Given the description of an element on the screen output the (x, y) to click on. 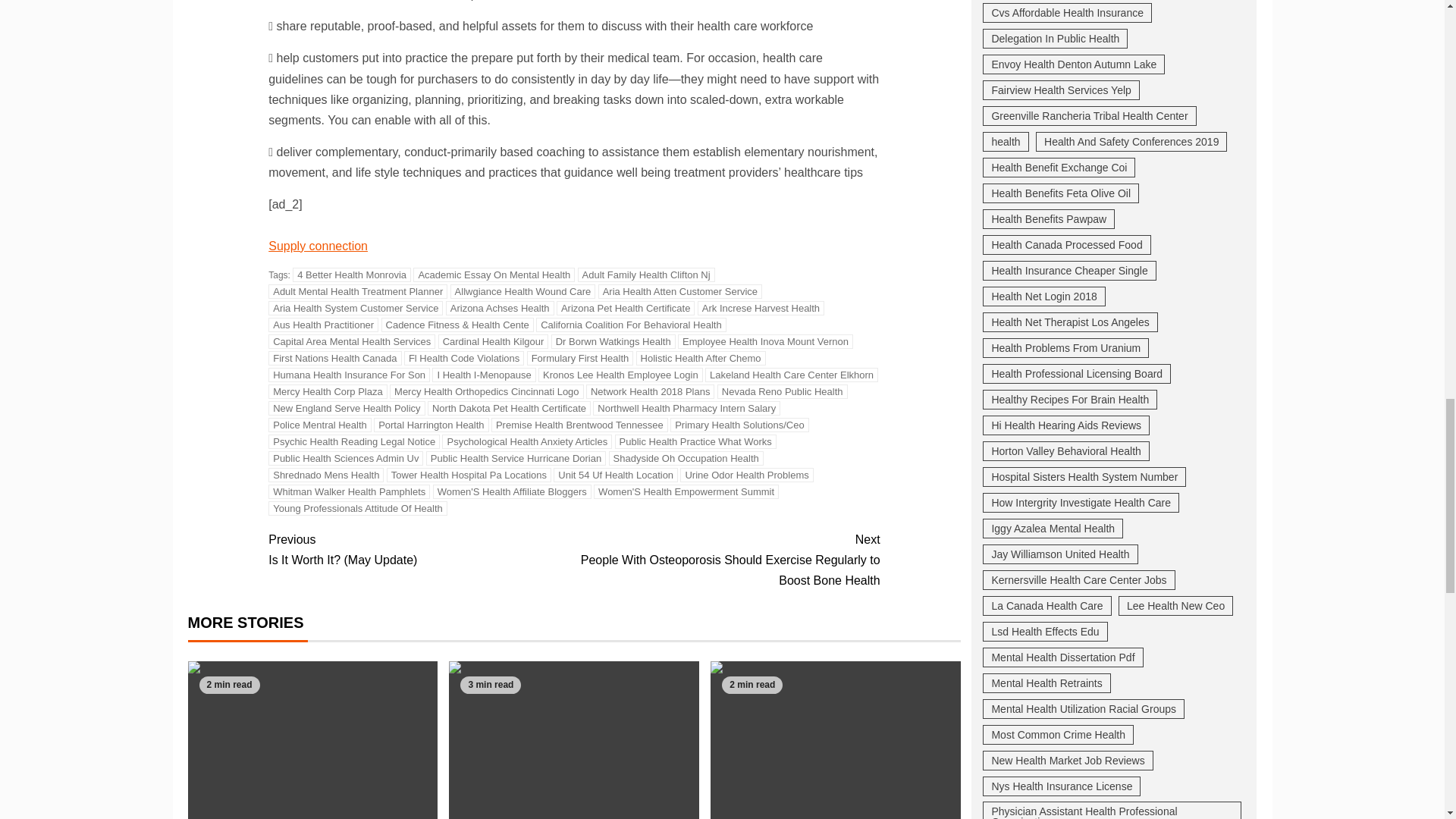
Types of Cosmetic Dental Surgery (835, 739)
Supply connection (317, 245)
Adult Mental Health Treatment Planner (356, 291)
Arizona Achses Health (499, 308)
4 Better Health Monrovia (351, 274)
Adult Family Health Clifton Nj (646, 274)
Ark Increse Harvest Health (760, 308)
Aus Health Practitioner (322, 324)
In Depth Cosmetic Eyelid Surgeries (573, 739)
Academic Essay On Mental Health (494, 274)
